Given the description of an element on the screen output the (x, y) to click on. 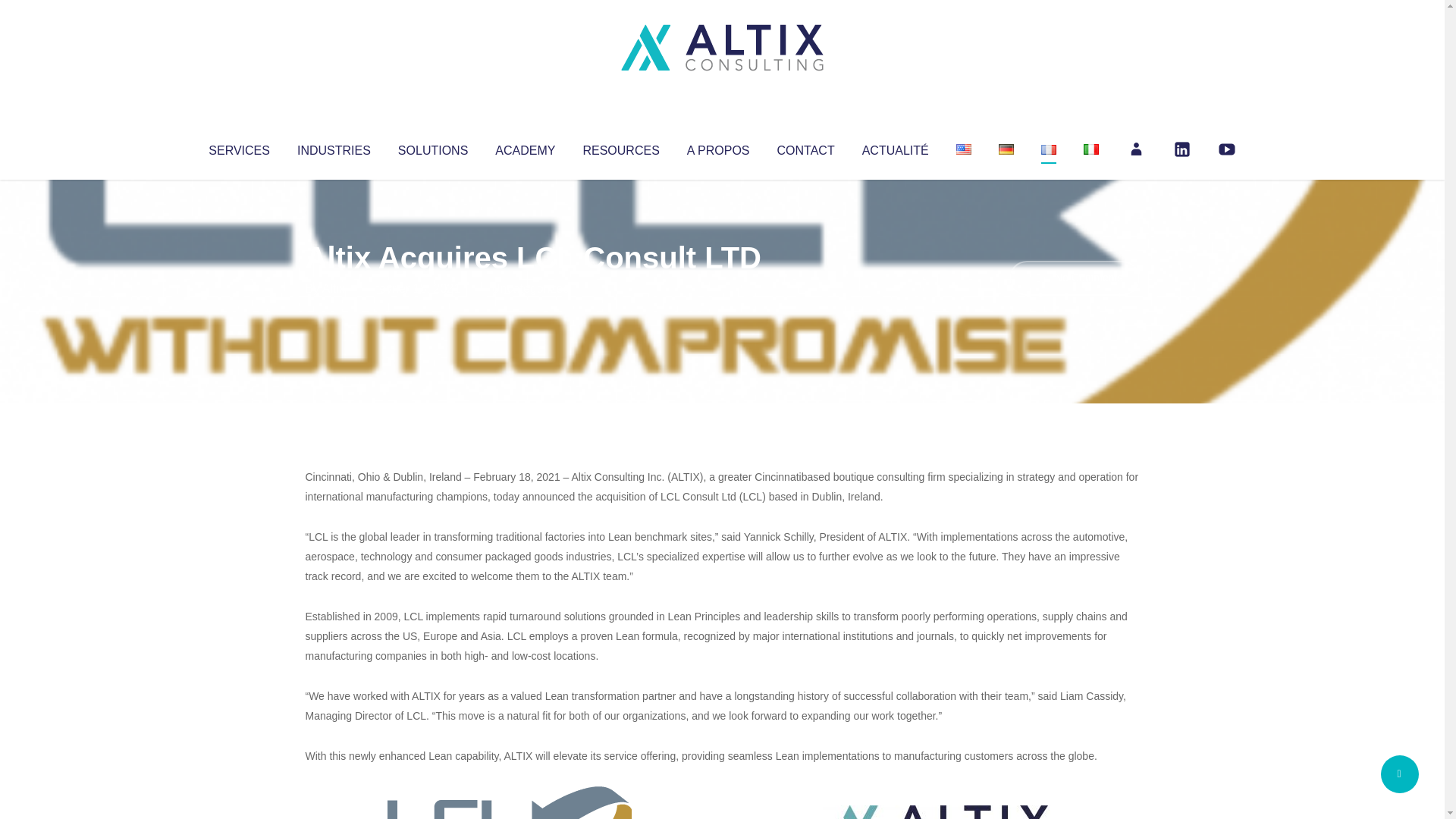
A PROPOS (718, 146)
Uncategorized (530, 287)
SOLUTIONS (432, 146)
INDUSTRIES (334, 146)
ACADEMY (524, 146)
RESOURCES (620, 146)
No Comments (1073, 278)
Articles par Altix (333, 287)
SERVICES (238, 146)
Altix (333, 287)
